Given the description of an element on the screen output the (x, y) to click on. 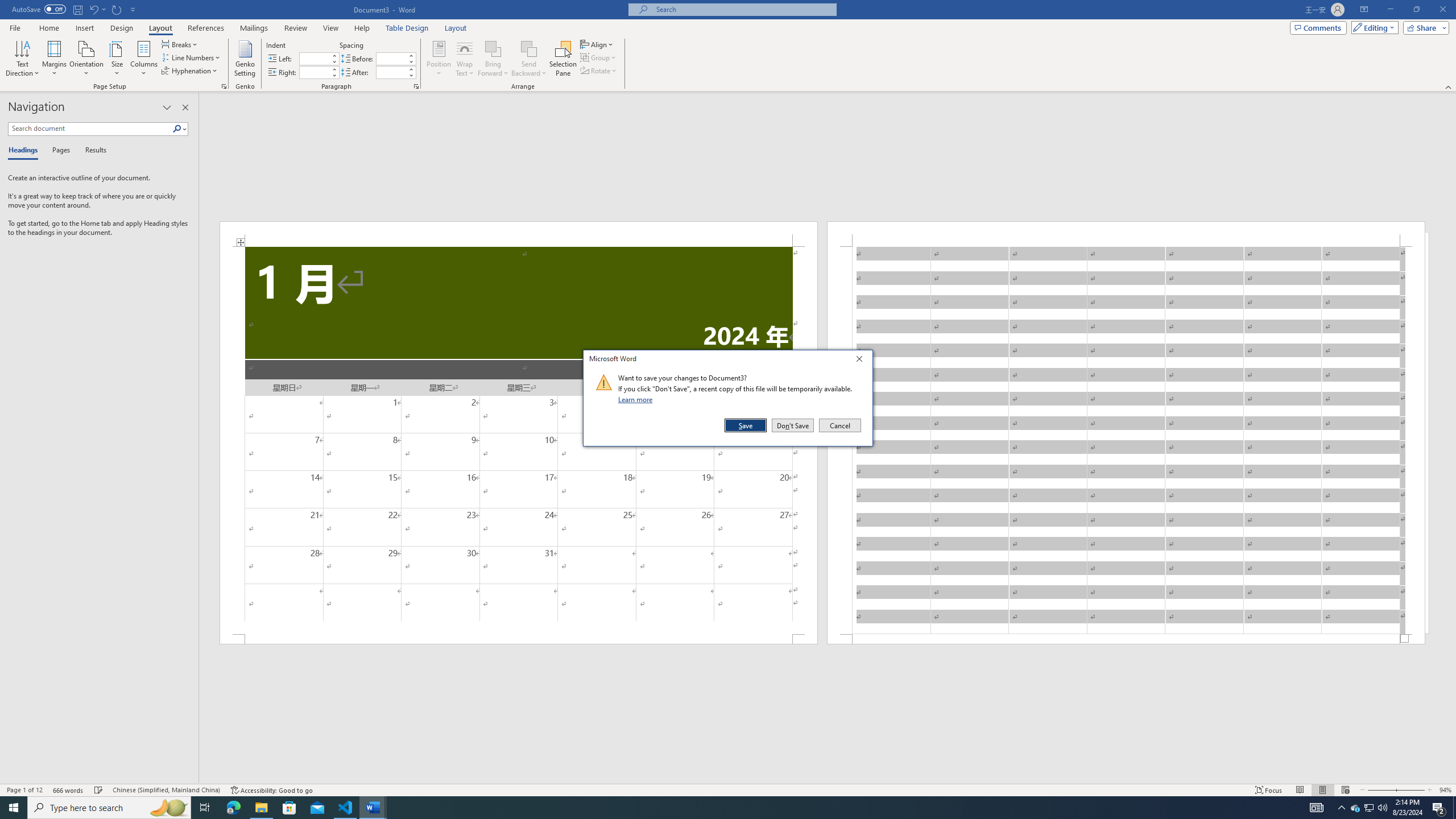
Undo Insert Row Below (92, 9)
Position (438, 58)
Page Setup... (223, 85)
